Given the description of an element on the screen output the (x, y) to click on. 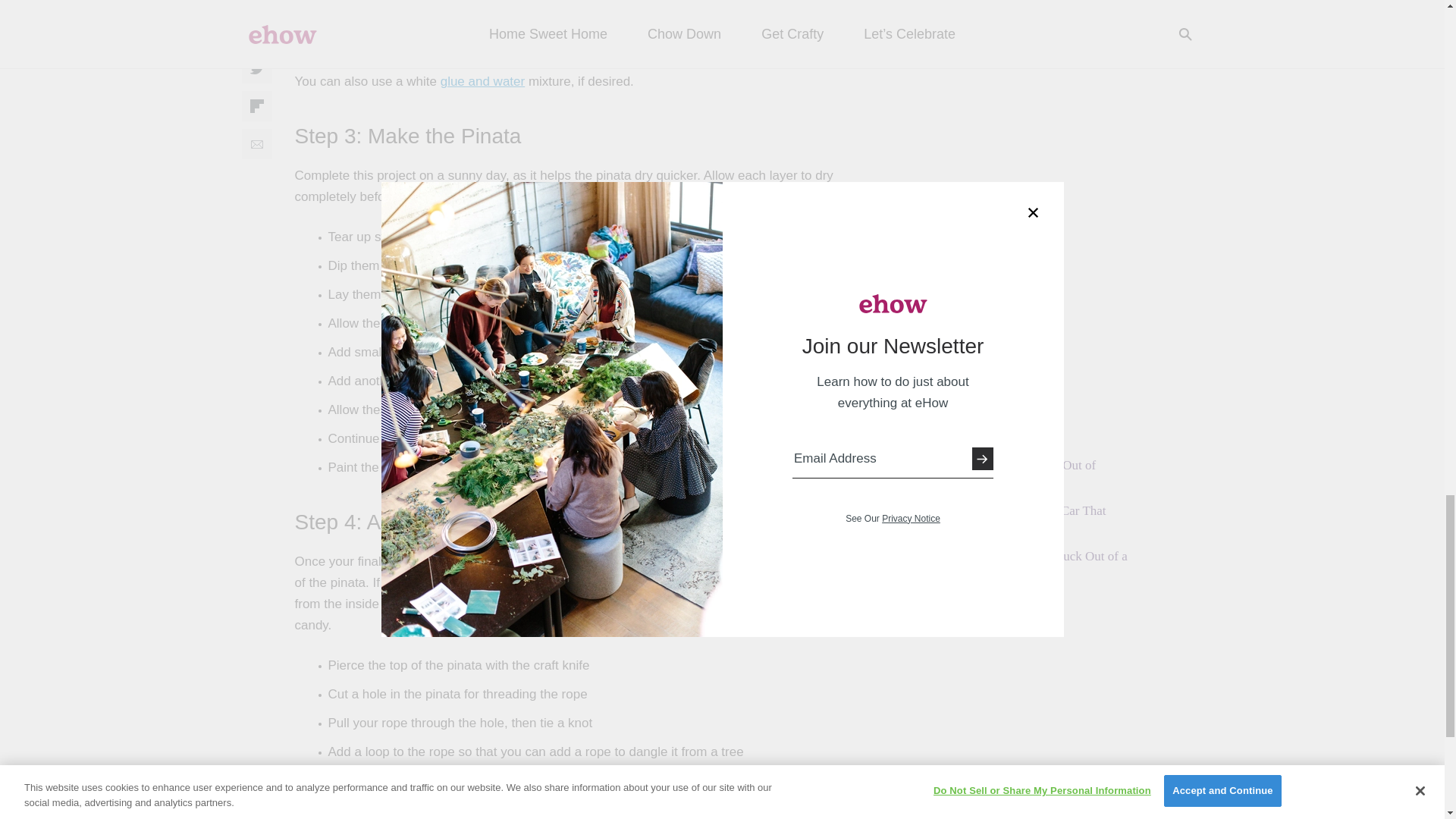
How to Make a Globe Out of Recycled Items (1020, 473)
How to Make a Paper Car That Moves (1024, 519)
3rd party ad content (1035, 67)
How to Make a Fire Truck Out of a Cardboard Box (1035, 564)
